Given the description of an element on the screen output the (x, y) to click on. 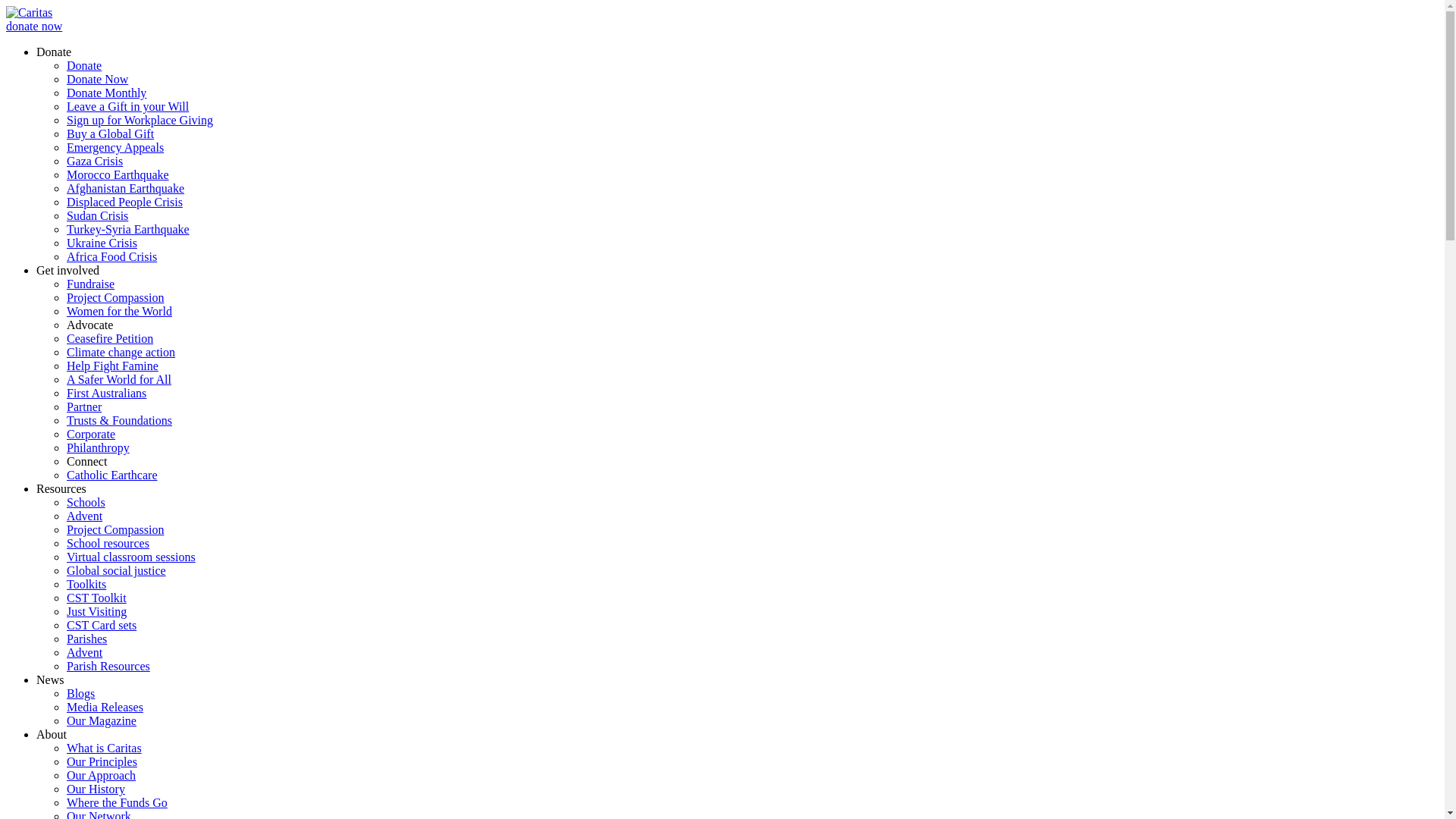
School resources Element type: text (107, 542)
Just Visiting Element type: text (96, 611)
Project Compassion Element type: text (114, 297)
Corporate Element type: text (90, 433)
Schools Element type: text (85, 501)
Trusts & Foundations Element type: text (119, 420)
Help Fight Famine Element type: text (112, 365)
CST Toolkit Element type: text (96, 597)
Africa Food Crisis Element type: text (111, 256)
Sudan Crisis Element type: text (97, 215)
Virtual classroom sessions Element type: text (130, 556)
Women for the World Element type: text (119, 310)
A Safer World for All Element type: text (118, 379)
Our Approach Element type: text (100, 774)
Gaza Crisis Element type: text (94, 160)
Global social justice Element type: text (116, 570)
Advent Element type: text (84, 652)
Toolkits Element type: text (86, 583)
Morocco Earthquake Element type: text (117, 174)
What is Caritas Element type: text (103, 747)
Buy a Global Gift Element type: text (109, 133)
Our Magazine Element type: text (101, 720)
Blogs Element type: text (80, 693)
Climate change action Element type: text (120, 351)
Ceasefire Petition Element type: text (109, 338)
Partner Element type: text (83, 406)
Our Principles Element type: text (101, 761)
Sign up for Workplace Giving Element type: text (139, 119)
Fundraise Element type: text (90, 283)
CST Card sets Element type: text (101, 624)
Where the Funds Go Element type: text (116, 802)
Leave a Gift in your Will Element type: text (127, 106)
Philanthropy Element type: text (97, 447)
Our History Element type: text (95, 788)
Project Compassion Element type: text (114, 529)
Donate Element type: text (83, 65)
Ukraine Crisis Element type: text (101, 242)
Donate Now Element type: text (97, 78)
Turkey-Syria Earthquake Element type: text (127, 228)
Media Releases Element type: text (104, 706)
Emergency Appeals Element type: text (114, 147)
Afghanistan Earthquake Element type: text (125, 188)
First Australians Element type: text (106, 392)
Catholic Earthcare Element type: text (111, 474)
Parishes Element type: text (86, 638)
donate now Element type: text (34, 25)
Parish Resources Element type: text (108, 665)
Donate Monthly Element type: text (106, 92)
Displaced People Crisis Element type: text (124, 201)
Advent Element type: text (84, 515)
